Given the description of an element on the screen output the (x, y) to click on. 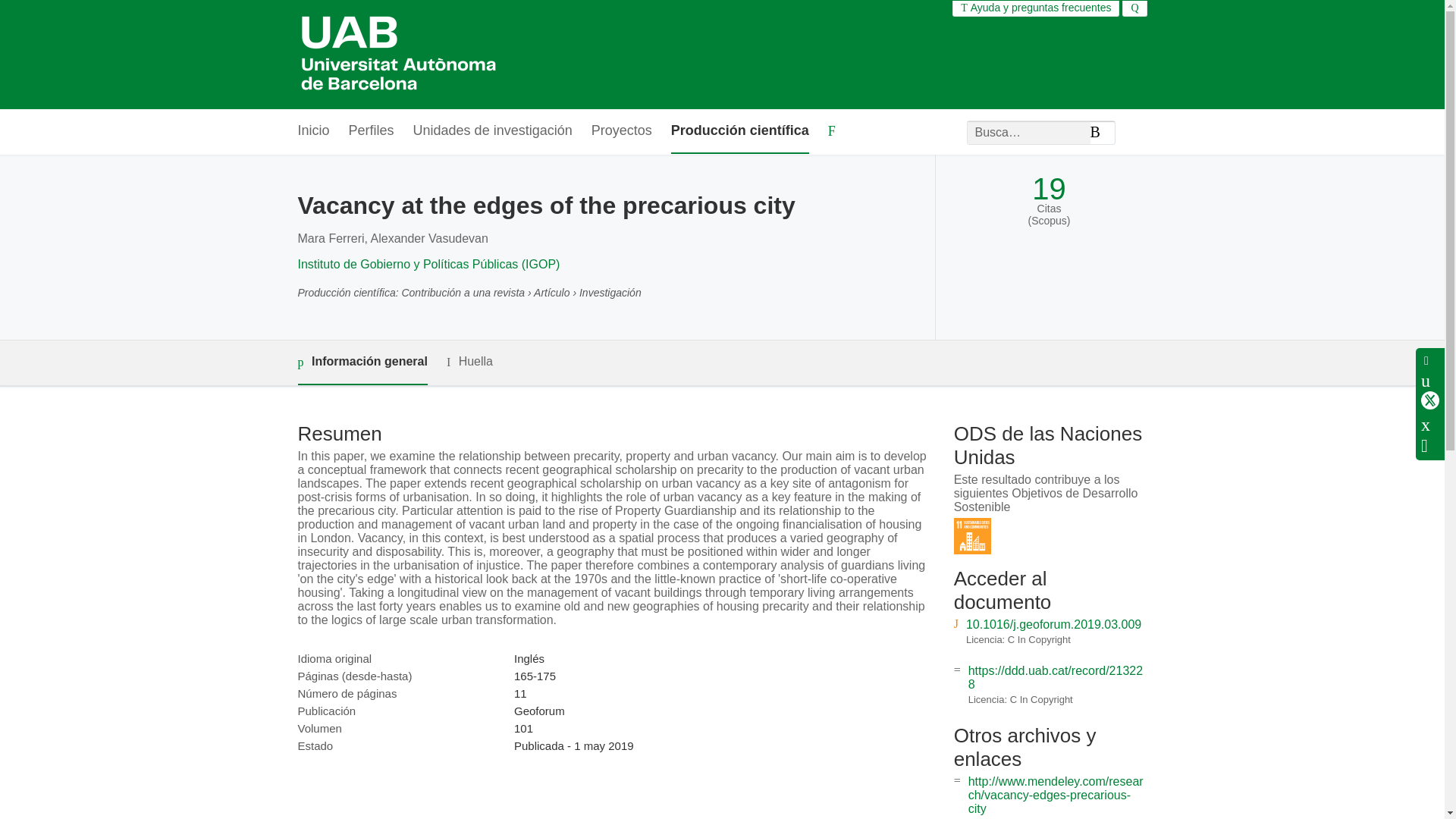
Proyectos (621, 130)
19 (1048, 189)
Huella (469, 362)
Ayuda y preguntas frecuentes (1035, 7)
Perfiles (371, 130)
